Given the description of an element on the screen output the (x, y) to click on. 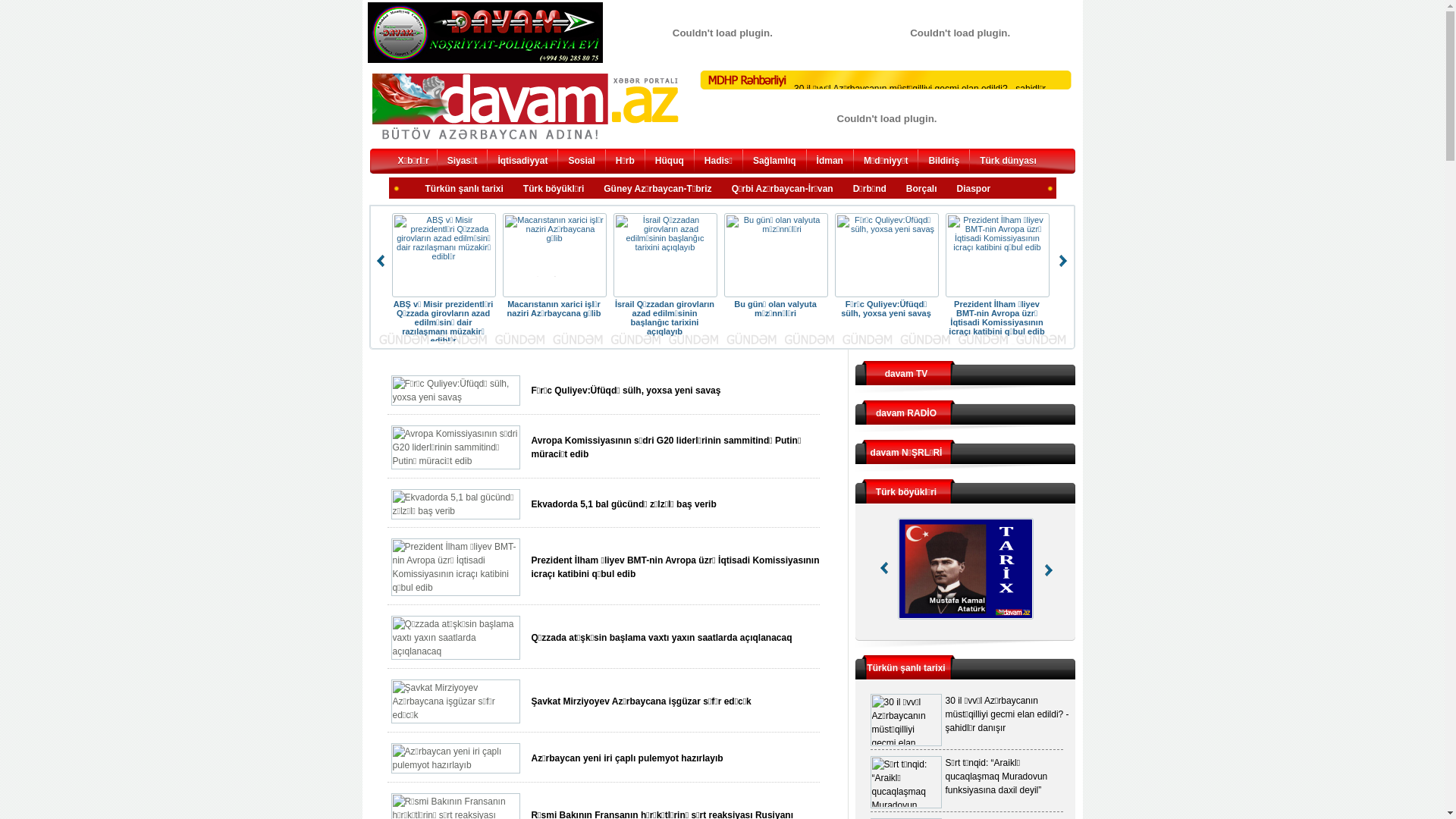
Sosial Element type: text (581, 162)
davam TV Element type: text (906, 373)
Diaspor Element type: text (972, 189)
